Given the description of an element on the screen output the (x, y) to click on. 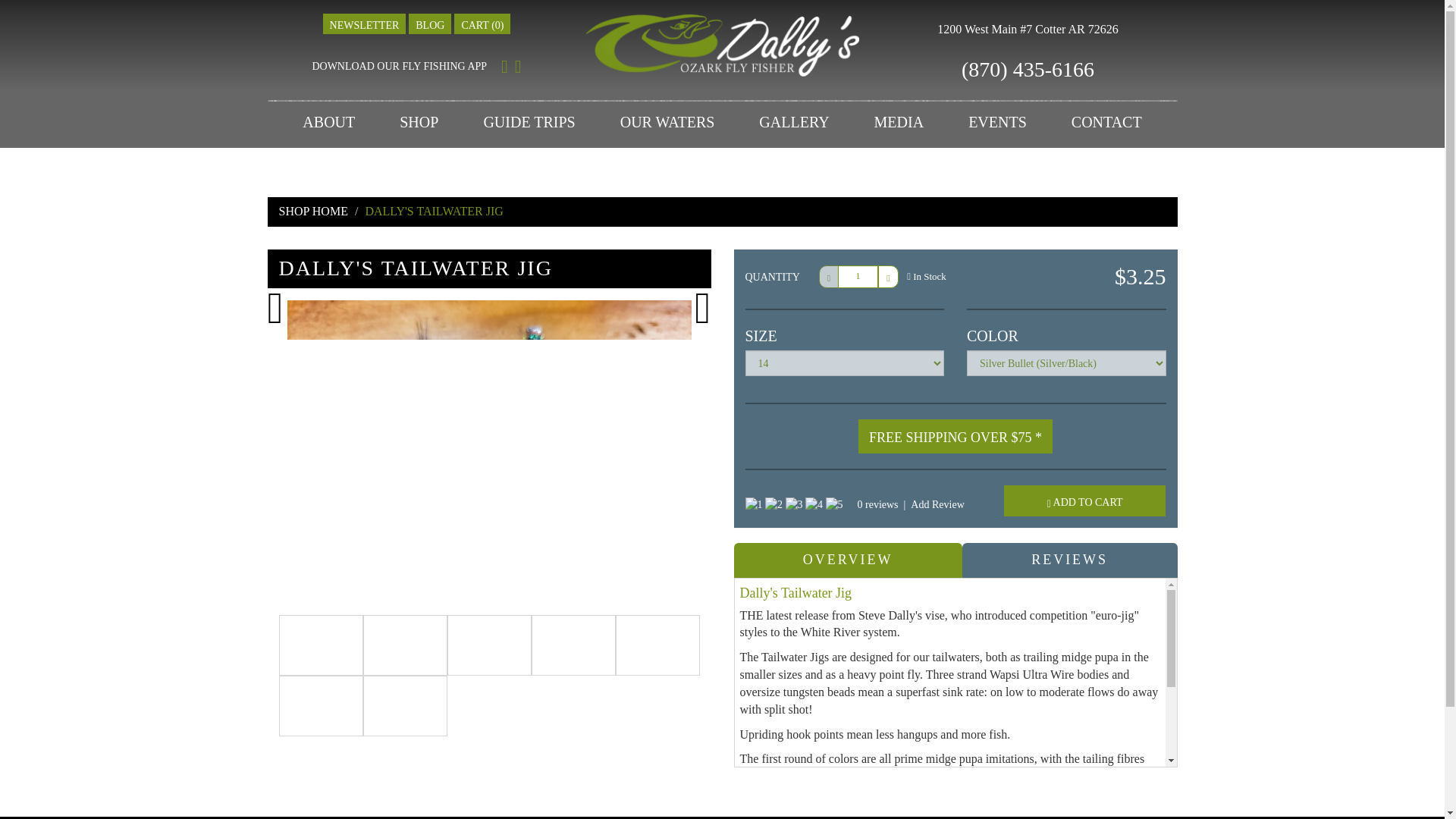
Not rated yet! (834, 504)
Not rated yet! (813, 504)
1 (857, 276)
Not rated yet! (794, 504)
Not rated yet! (774, 504)
Not rated yet! (793, 504)
Not rated yet! (752, 504)
